Given the description of an element on the screen output the (x, y) to click on. 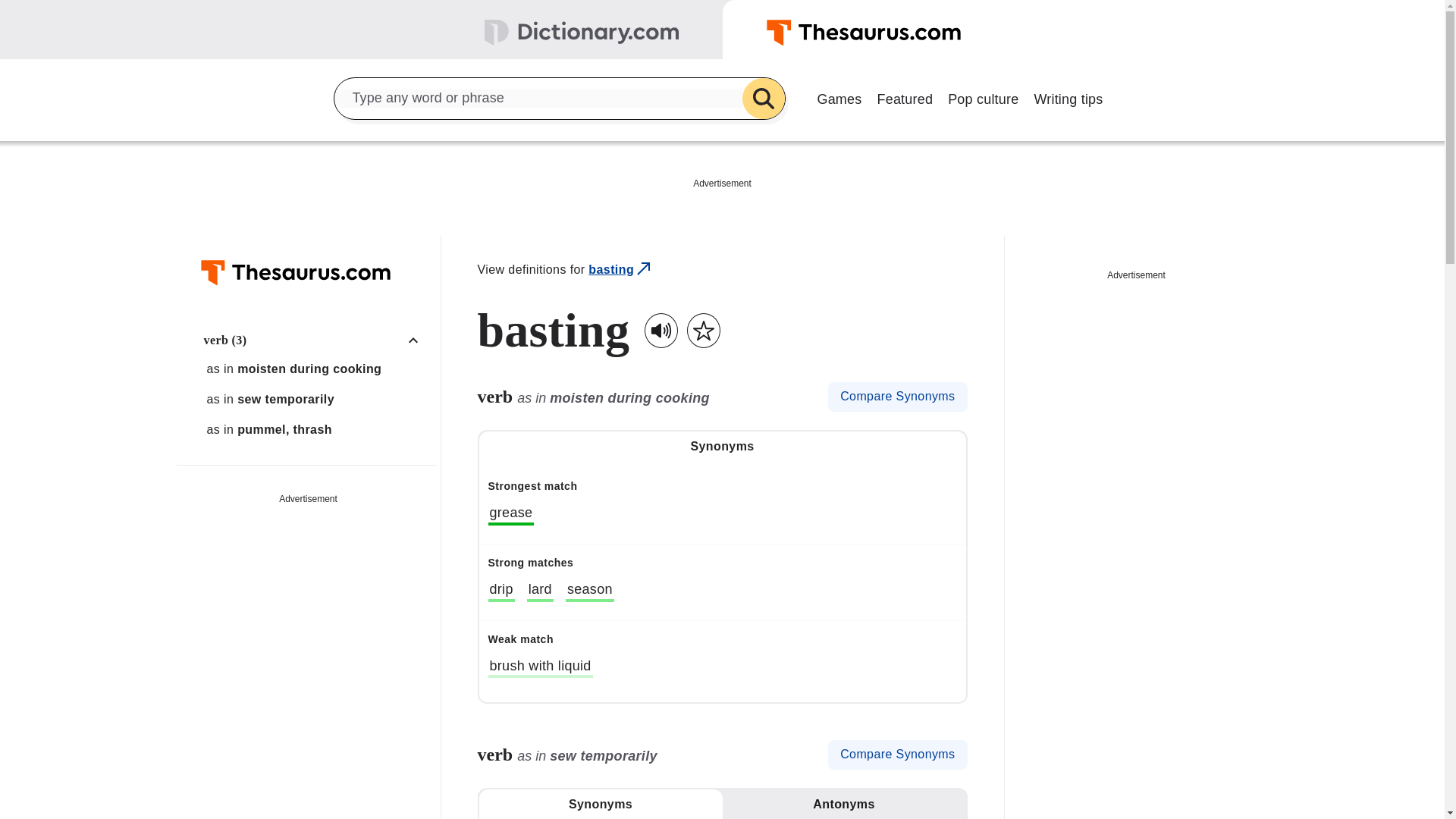
as in moisten during cooking (316, 369)
as in sew temporarily (316, 399)
Featured (904, 97)
Writing tips (1067, 97)
Pop culture (983, 97)
basting (620, 270)
Compare Synonyms (897, 396)
as in pummel, thrash (316, 429)
Games (839, 97)
Synonyms (722, 446)
